Given the description of an element on the screen output the (x, y) to click on. 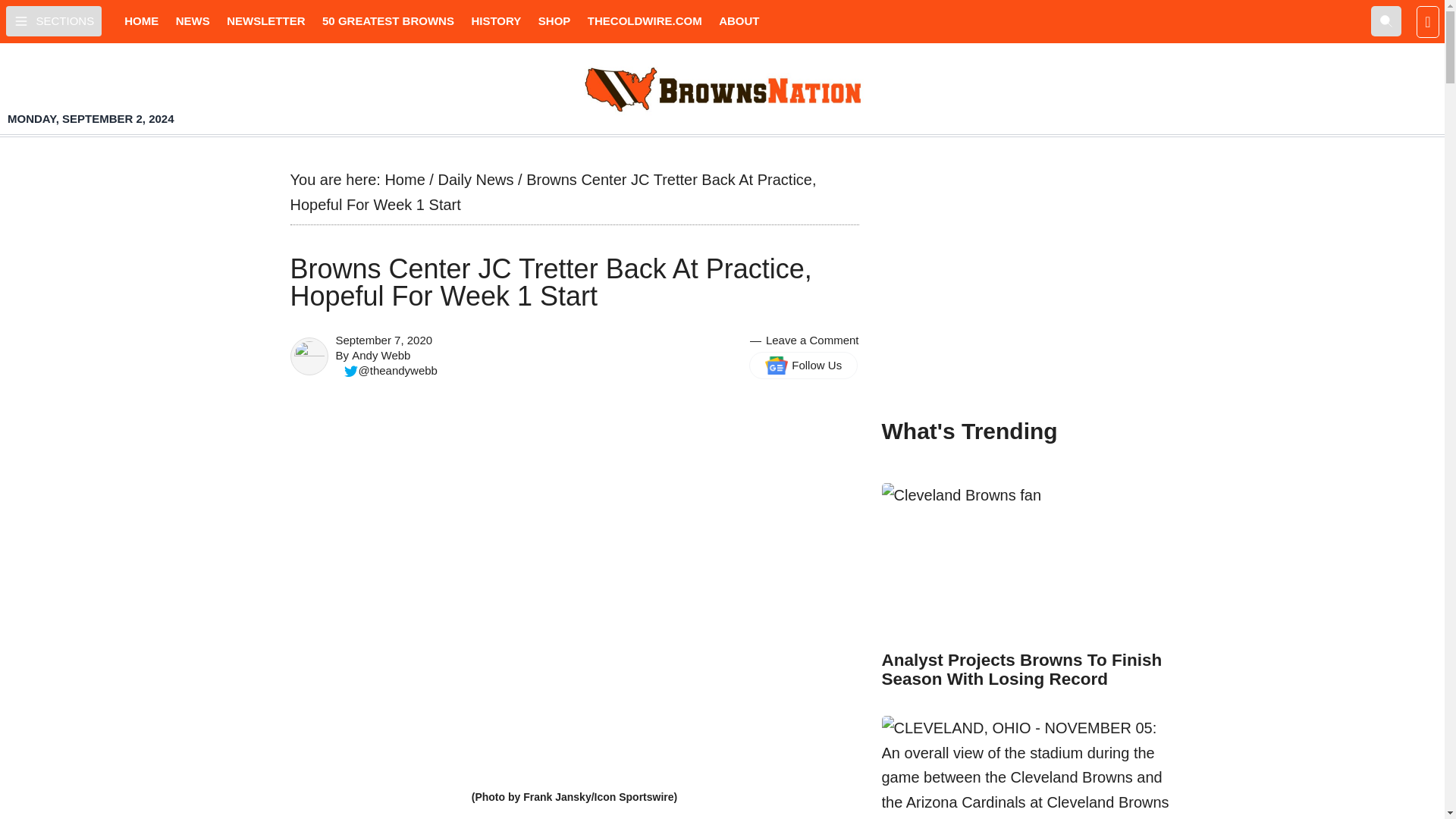
HISTORY (495, 21)
BROWNS NATION (722, 88)
50 GREATEST BROWNS (387, 21)
Open Menu (53, 20)
SECTIONS (53, 20)
HOME (140, 21)
ABOUT (738, 21)
SHOP (554, 21)
Search (1385, 20)
